Given the description of an element on the screen output the (x, y) to click on. 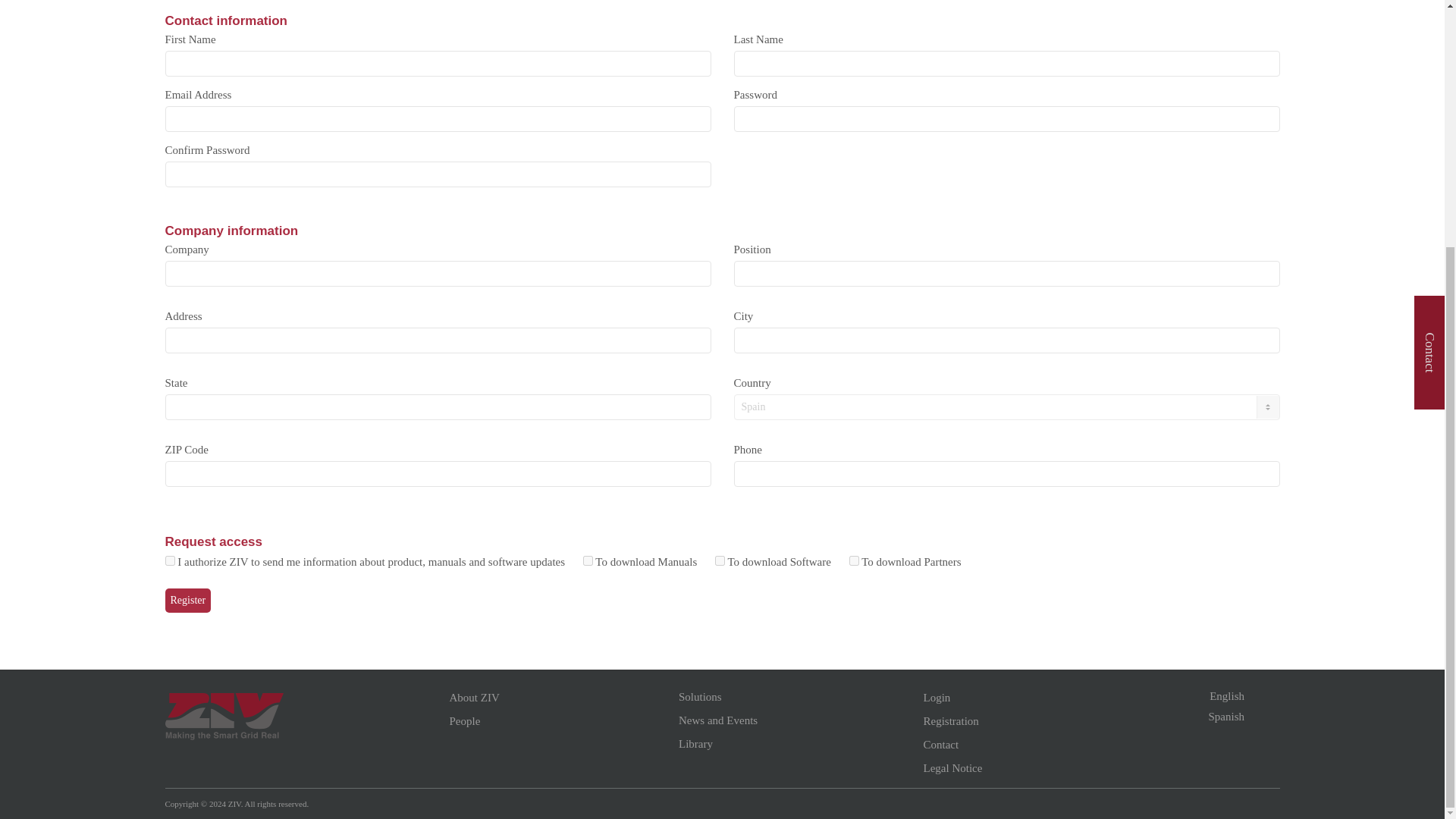
News and Events (789, 720)
solicitud-de-acceso-a-software (719, 560)
Register (188, 600)
solicitud-de-acceso-a-manuales (587, 560)
Solutions (789, 697)
1 (169, 560)
Login (1054, 697)
People (559, 721)
About ZIV (559, 697)
solicitud-de-acceso-a-partners (853, 560)
Library (789, 744)
Registration (1054, 721)
